Given the description of an element on the screen output the (x, y) to click on. 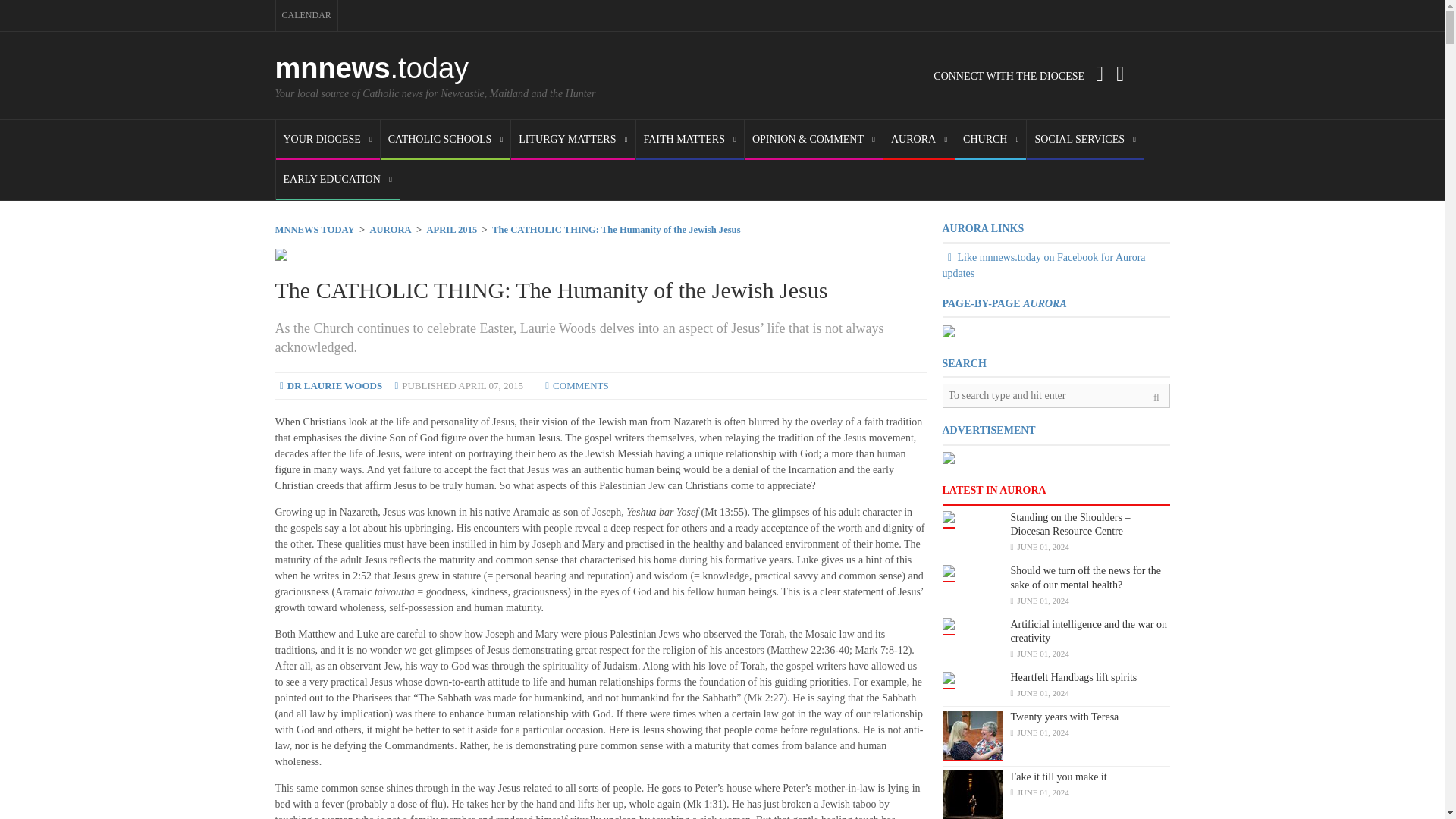
YOUR DIOCESE (328, 139)
mnnews.today (371, 68)
LITURGY MATTERS (572, 139)
CALENDAR (306, 15)
CATHOLIC SCHOOLS (445, 139)
